Given the description of an element on the screen output the (x, y) to click on. 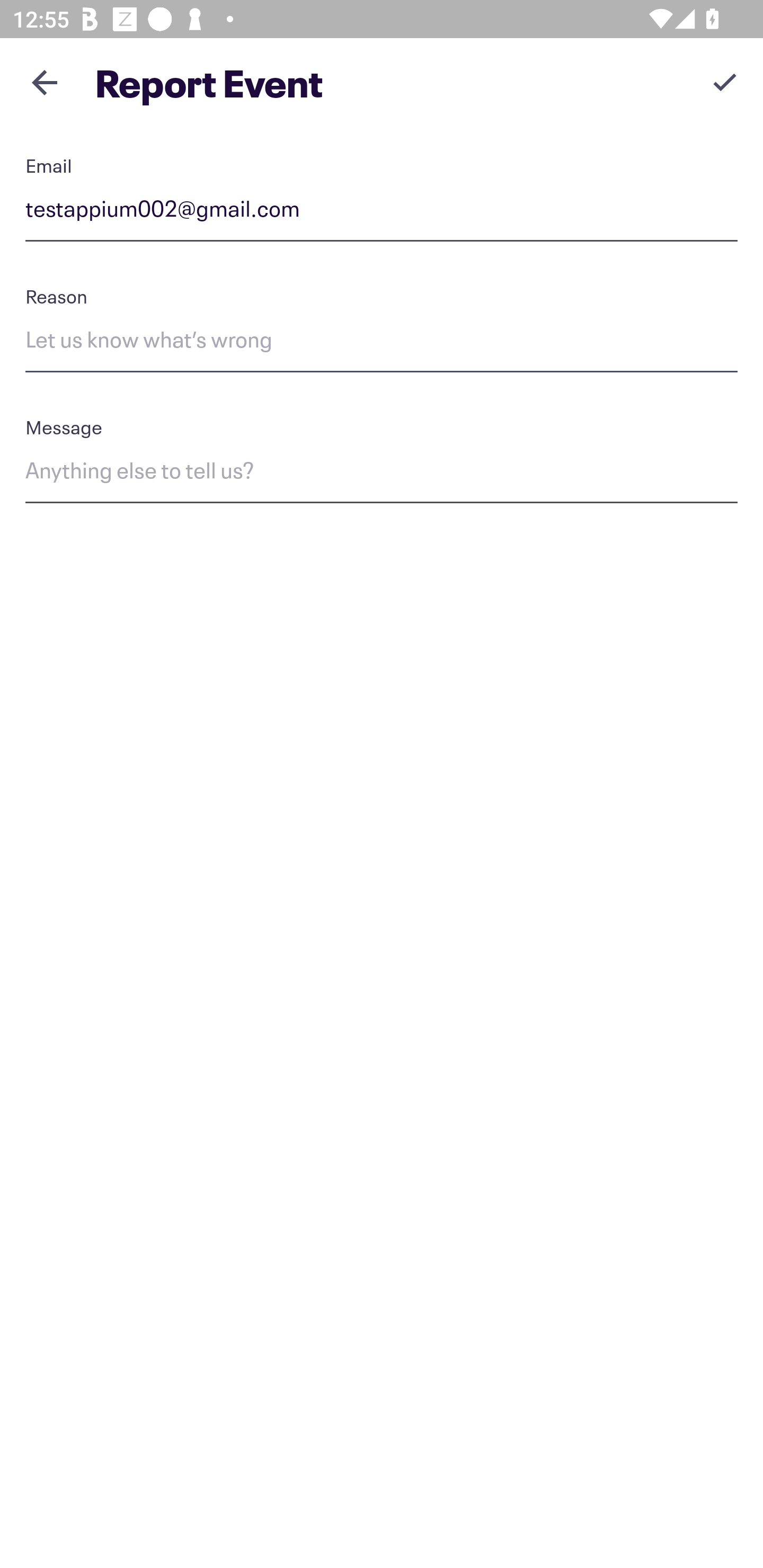
Navigate up (44, 82)
Save (724, 81)
testappium002@gmail.com (381, 211)
Let us know what’s wrong (381, 342)
Anything else to tell us? (381, 473)
